Given the description of an element on the screen output the (x, y) to click on. 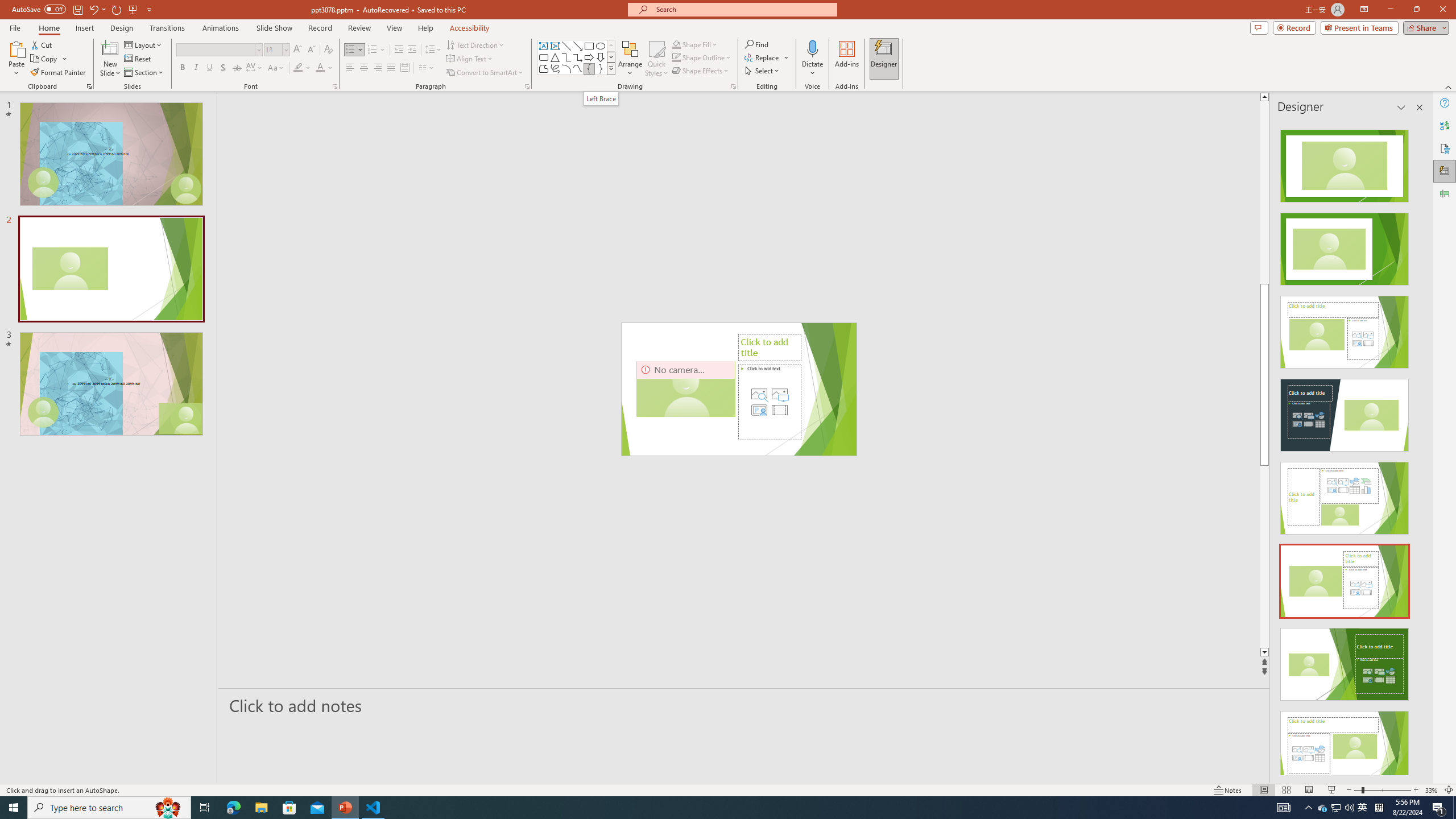
Increase Font Size (297, 49)
Pictures (779, 394)
Text Box (543, 45)
Arrange (630, 58)
Stock Images (758, 394)
Isosceles Triangle (554, 57)
AutomationID: ShapesInsertGallery (576, 57)
Font Size (273, 49)
Designer (1444, 170)
Underline (209, 67)
Shape Effects (700, 69)
